Given the description of an element on the screen output the (x, y) to click on. 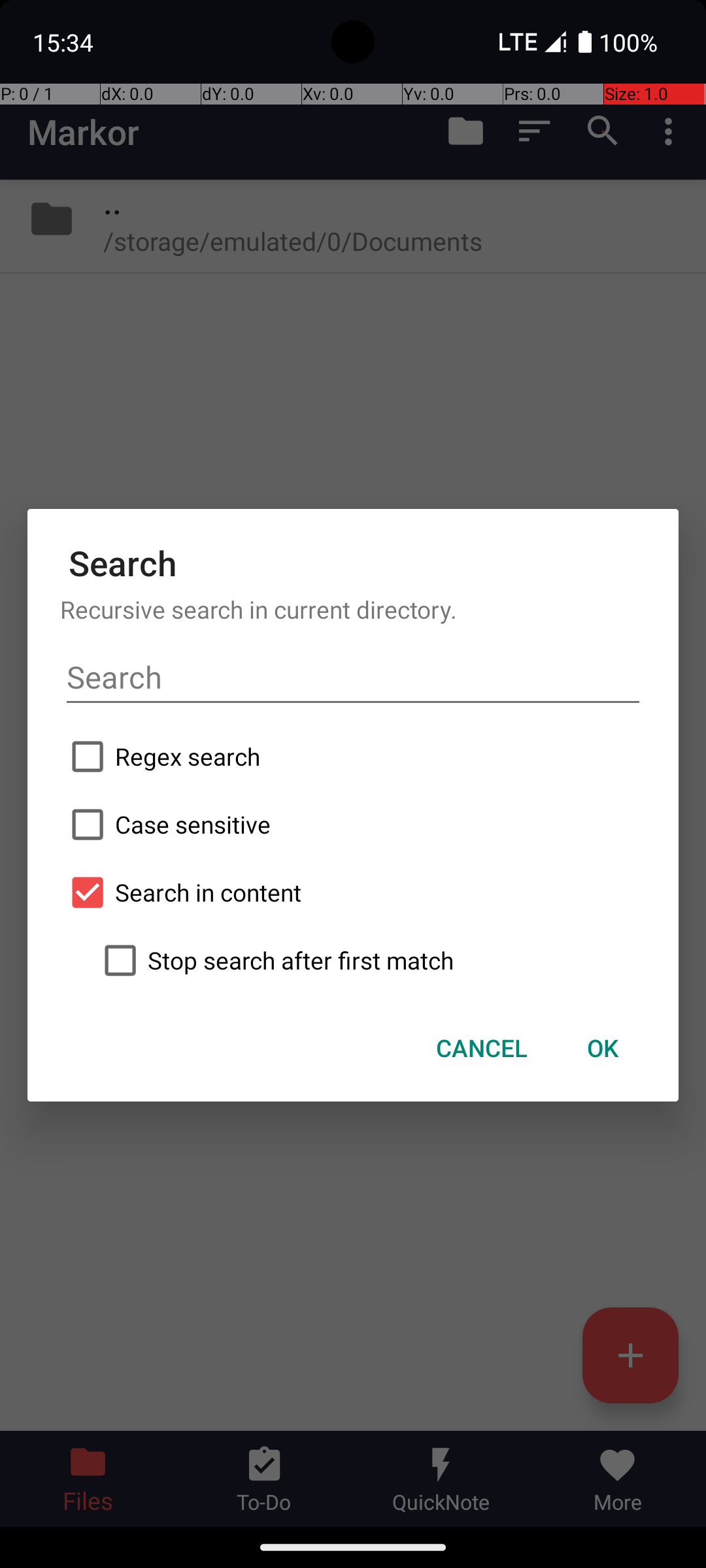
Stop search after first match Element type: android.widget.CheckBox (368, 959)
